Given the description of an element on the screen output the (x, y) to click on. 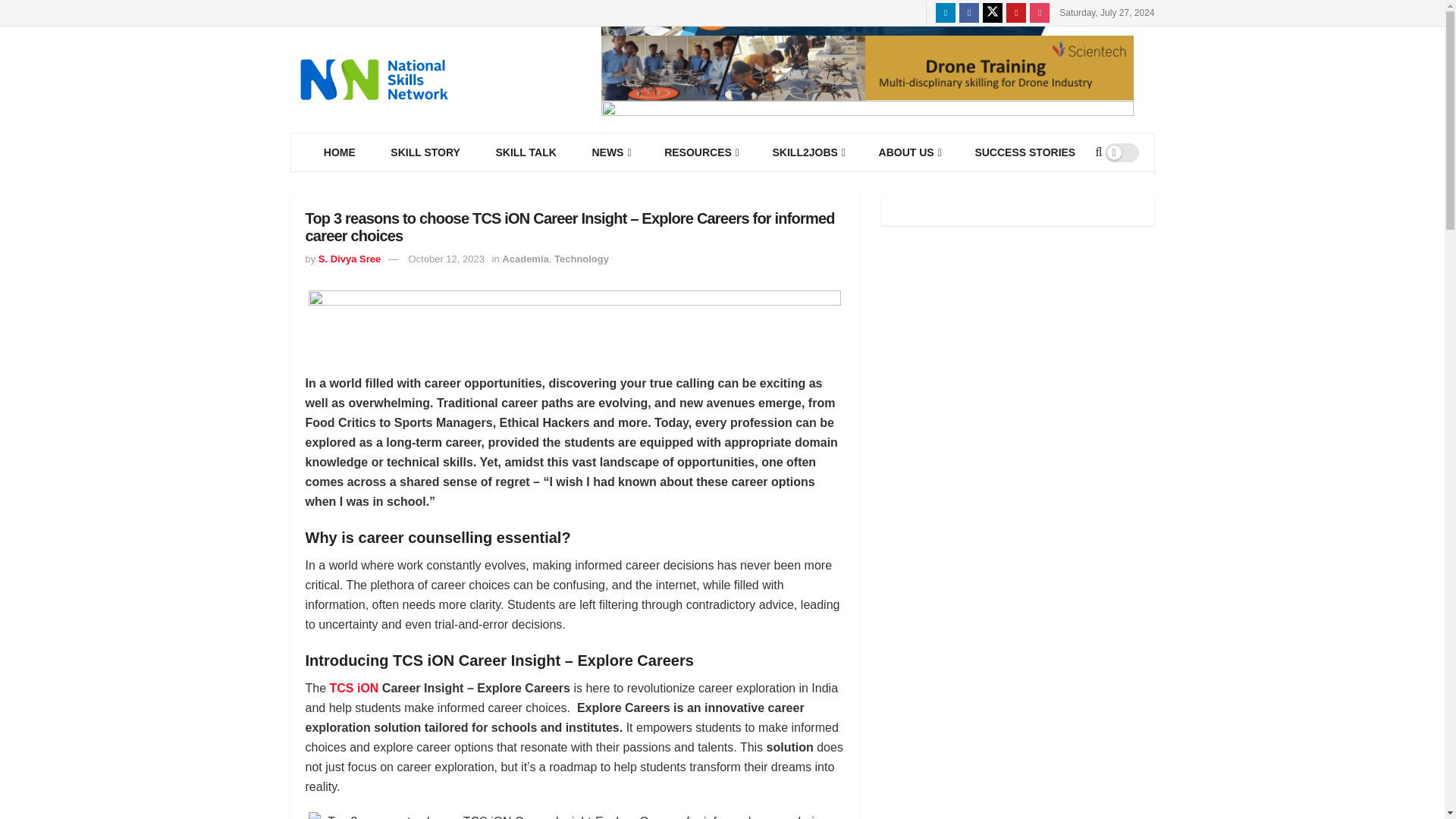
HOME (339, 152)
ABOUT US (908, 152)
SUCCESS STORIES (1024, 152)
SKILL TALK (525, 152)
RESOURCES (700, 152)
SKILL STORY (424, 152)
SKILL2JOBS (807, 152)
NEWS (609, 152)
Drone PNG (865, 67)
